Given the description of an element on the screen output the (x, y) to click on. 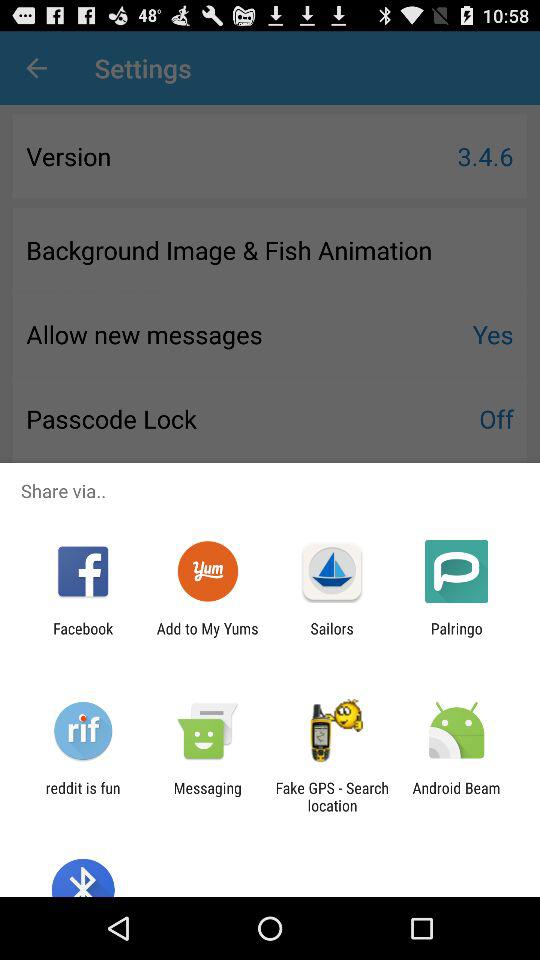
swipe until the facebook app (83, 637)
